Given the description of an element on the screen output the (x, y) to click on. 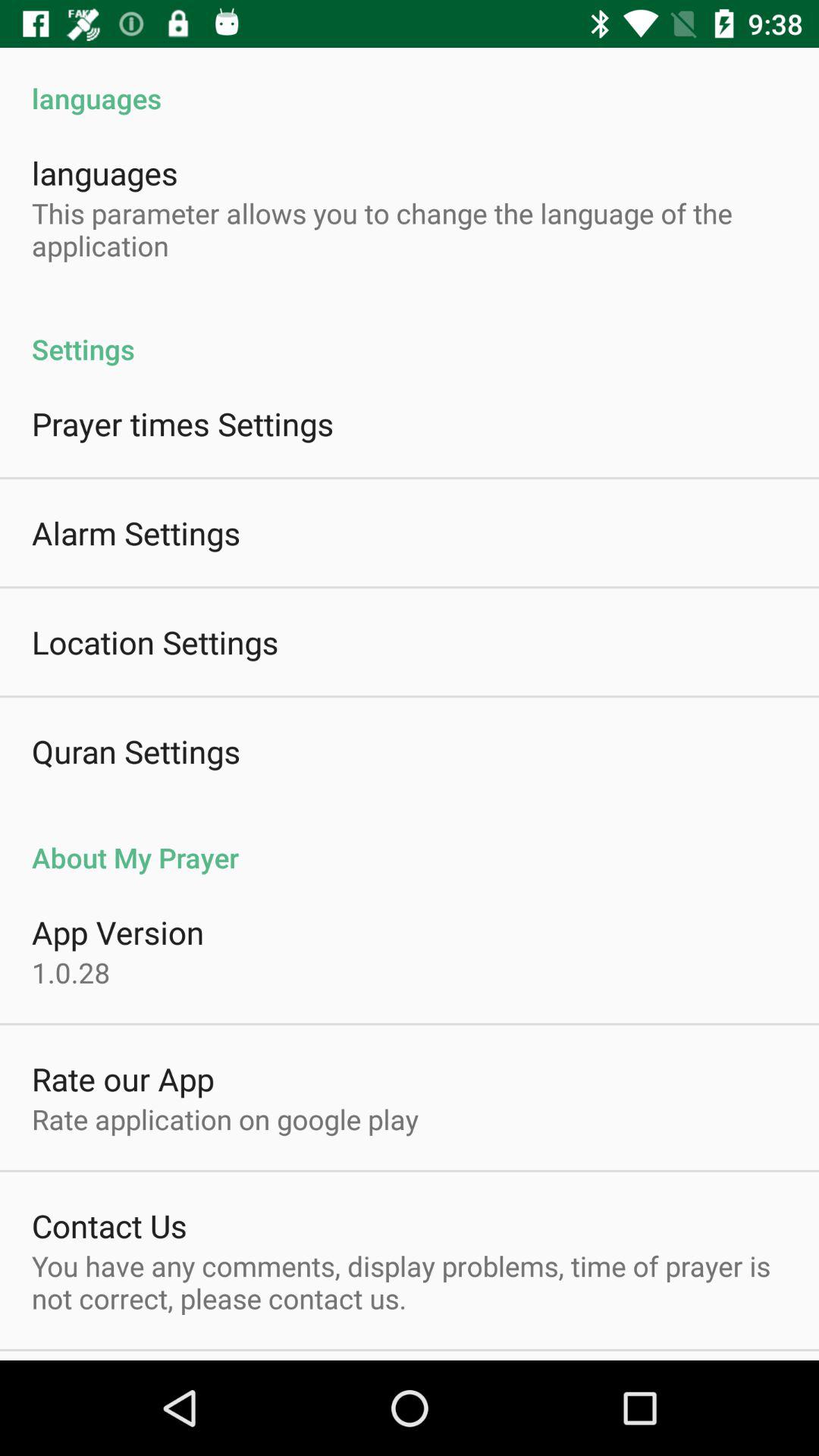
turn off the item below 1.0.28 icon (122, 1078)
